Given the description of an element on the screen output the (x, y) to click on. 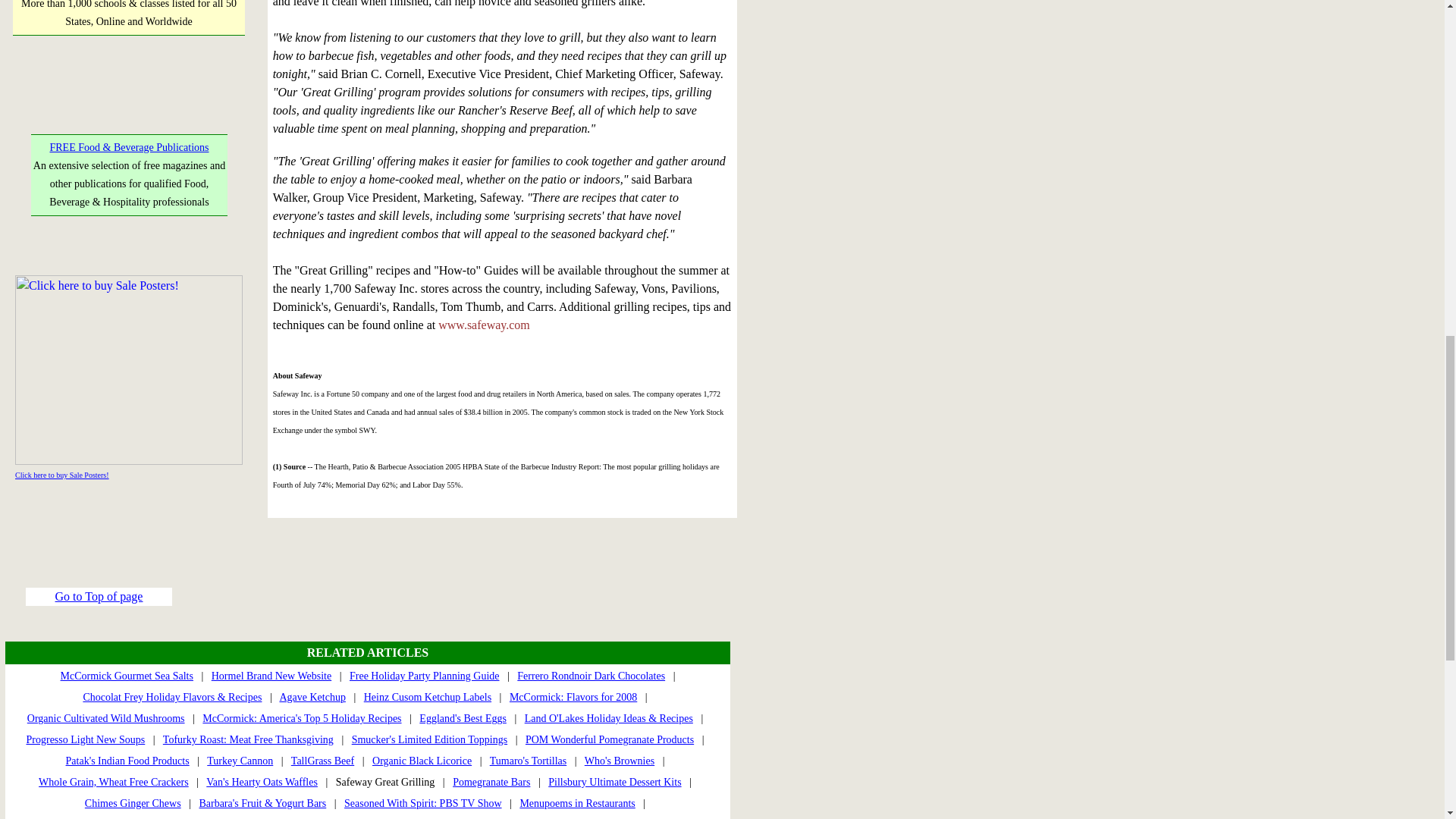
Hormel Brand New Website (271, 675)
Organic Cultivated Wild Mushrooms (105, 717)
McCormick Gourmet Sea Salts (127, 675)
Click here to buy Sale Posters! (61, 474)
Ferrero Rondnoir Dark Chocolates (590, 675)
Agave Ketchup (312, 696)
Free Holiday Party Planning Guide (424, 675)
Go to Top of page (98, 595)
Heinz Cusom Ketchup Labels (428, 696)
McCormick: Flavors for 2008 (573, 696)
